Given the description of an element on the screen output the (x, y) to click on. 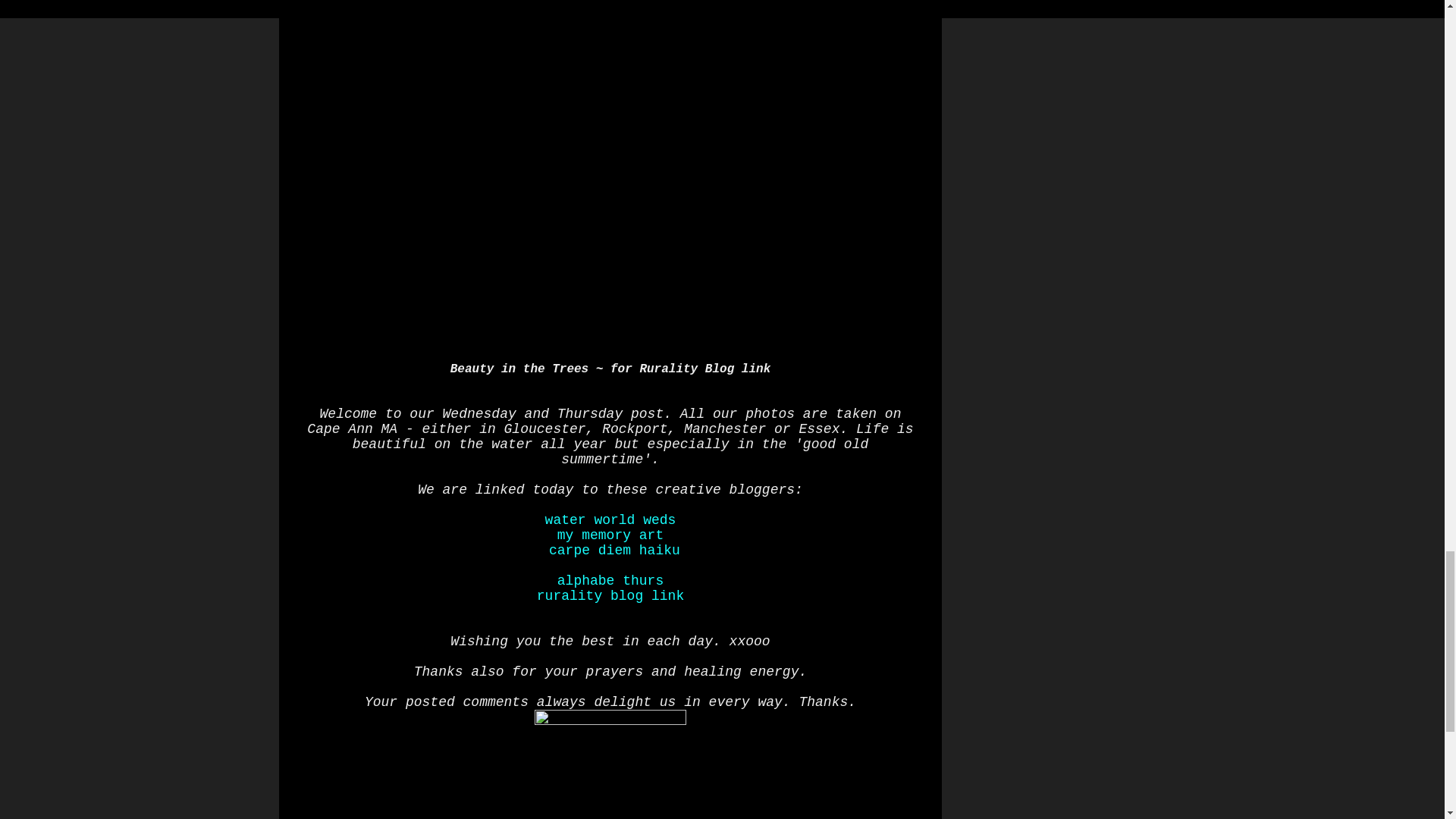
water world weds (610, 519)
my memory art (610, 534)
carpe diem haiku (613, 549)
rurality blog link (610, 595)
alphabe thurs (610, 580)
